Given the description of an element on the screen output the (x, y) to click on. 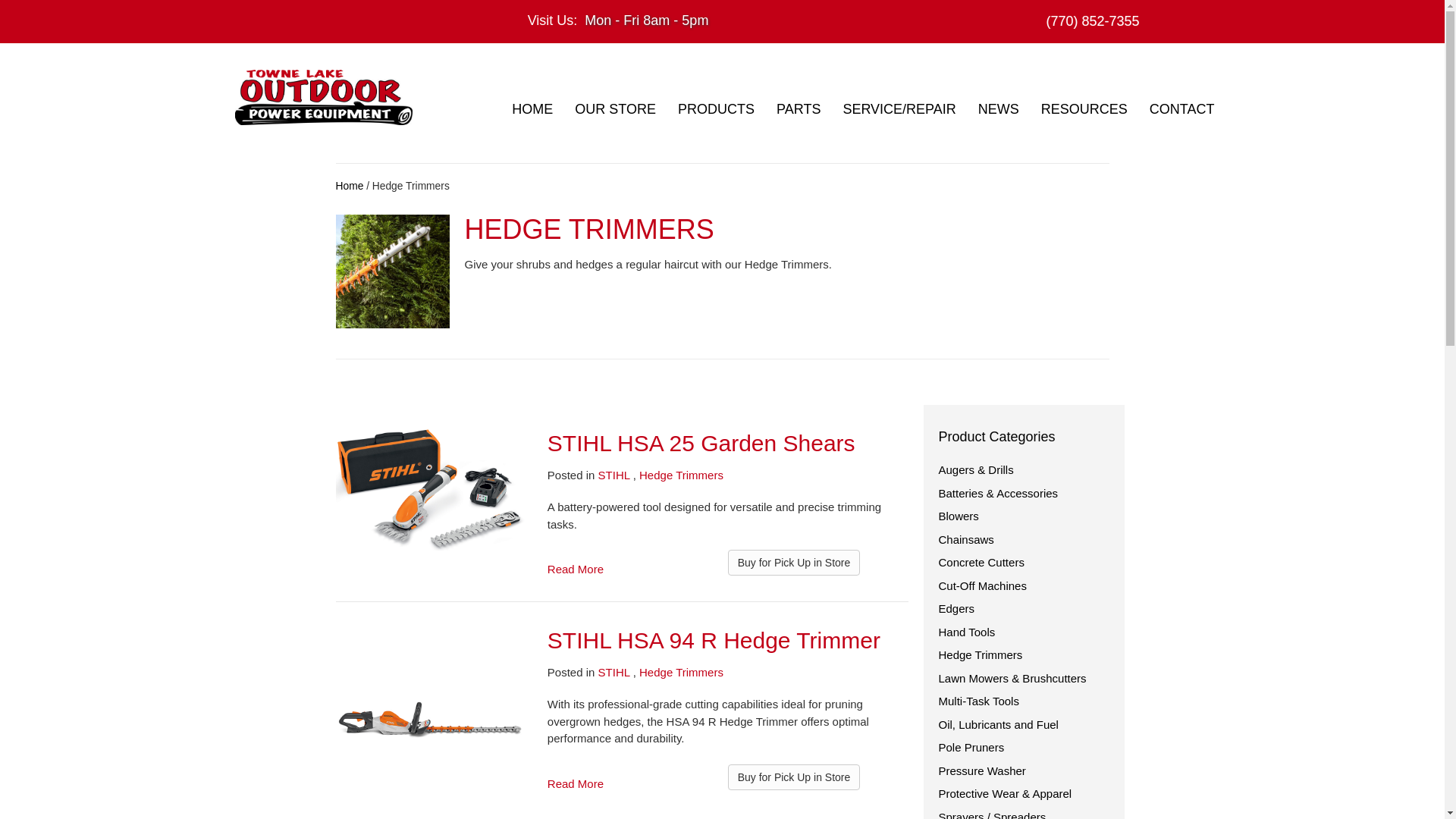
CONTACT (1181, 109)
PARTS (798, 109)
HOME (531, 109)
OUR STORE (615, 109)
STIHL (614, 474)
STIHL HSA 25 Garden Shears (429, 487)
Home (348, 185)
PRODUCTS (715, 109)
STIHL HSA 25 Garden Shears (701, 442)
NEWS (998, 109)
RESOURCES (1084, 109)
STIHL HSA 94 R Hedge Trimmer (429, 717)
Read More (575, 783)
Read More (575, 568)
STIHL HSA 94 R Hedge Trimmer (713, 640)
